Given the description of an element on the screen output the (x, y) to click on. 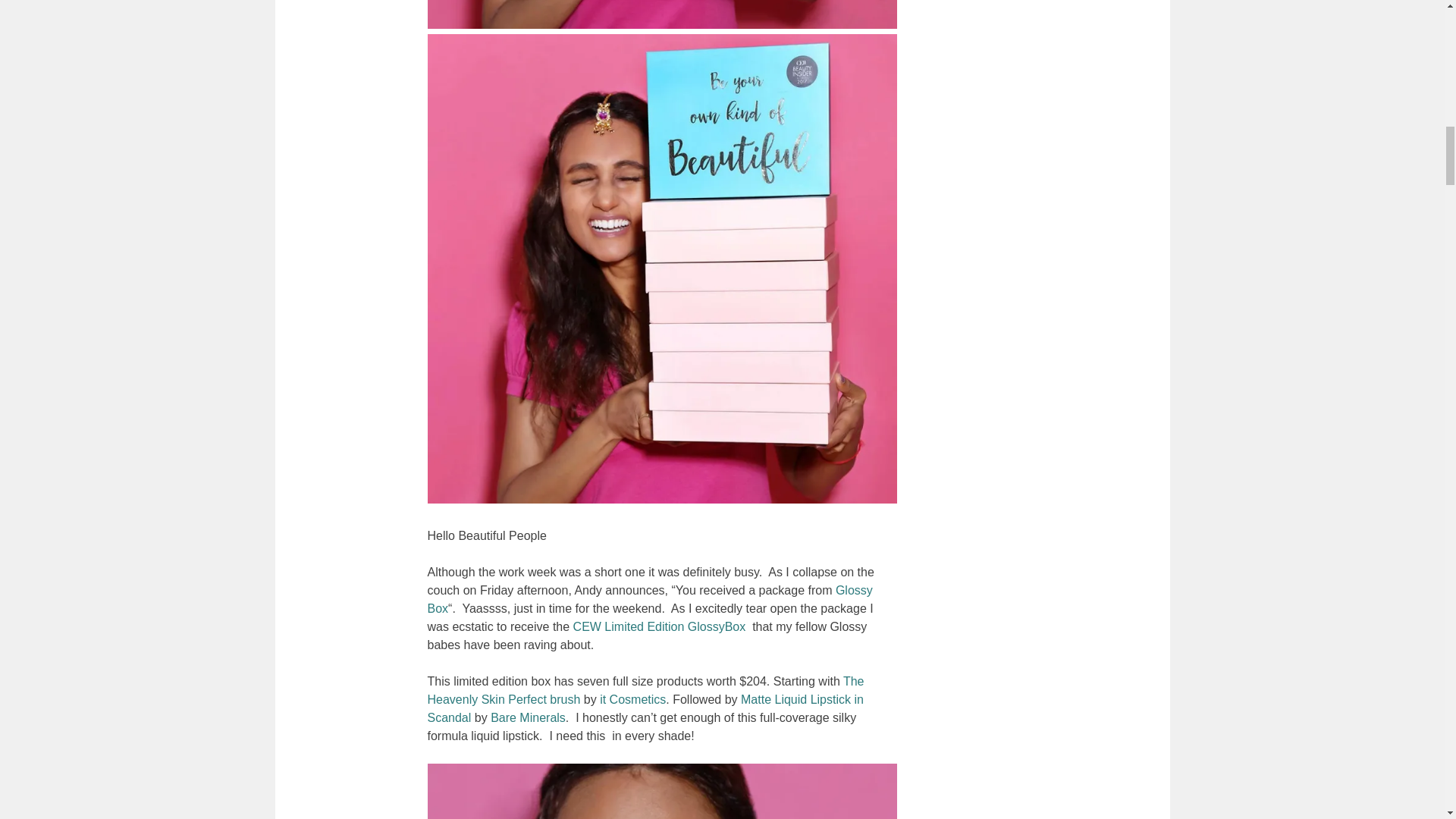
Glossy Box (650, 599)
CEW Limited Edition GlossyBox (659, 626)
it Cosmetics (632, 698)
he Heavenly Skin Perfect brush (646, 689)
Matte Liquid Lipstick in Scandal (645, 707)
Bare Minerals (528, 717)
